Given the description of an element on the screen output the (x, y) to click on. 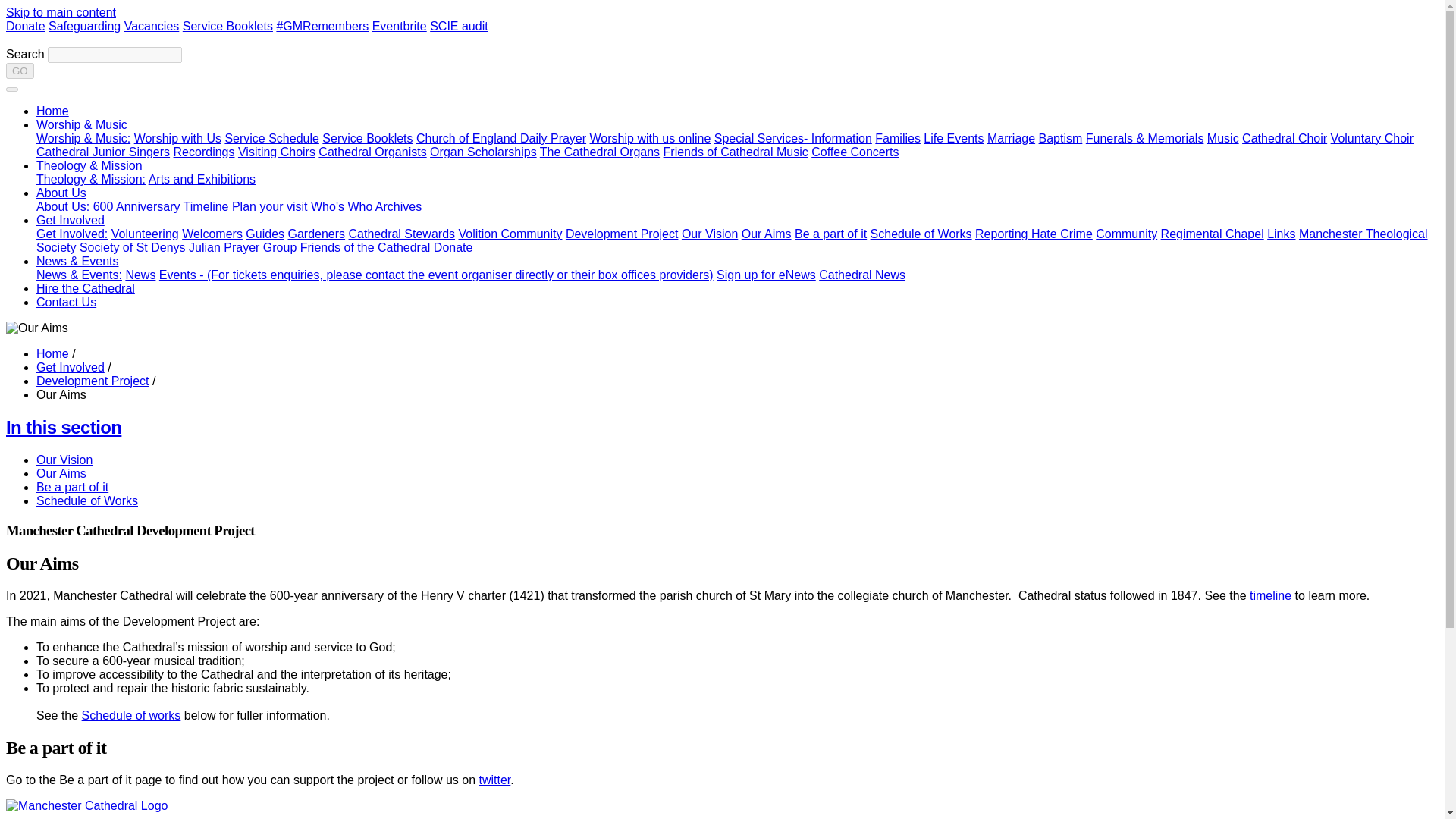
Voluntary Choir (1371, 137)
Vacancies (151, 25)
SCIE audit (458, 25)
Recordings (203, 151)
Cathedral Choir (1283, 137)
GO (19, 70)
Friends of Cathedral Music (735, 151)
Safeguarding (84, 25)
Eventbrite (399, 25)
Skip to main content (60, 11)
Service Booklets (228, 25)
Music (1223, 137)
Vacancies (151, 25)
Worship with us online (650, 137)
Donating (25, 25)
